Given the description of an element on the screen output the (x, y) to click on. 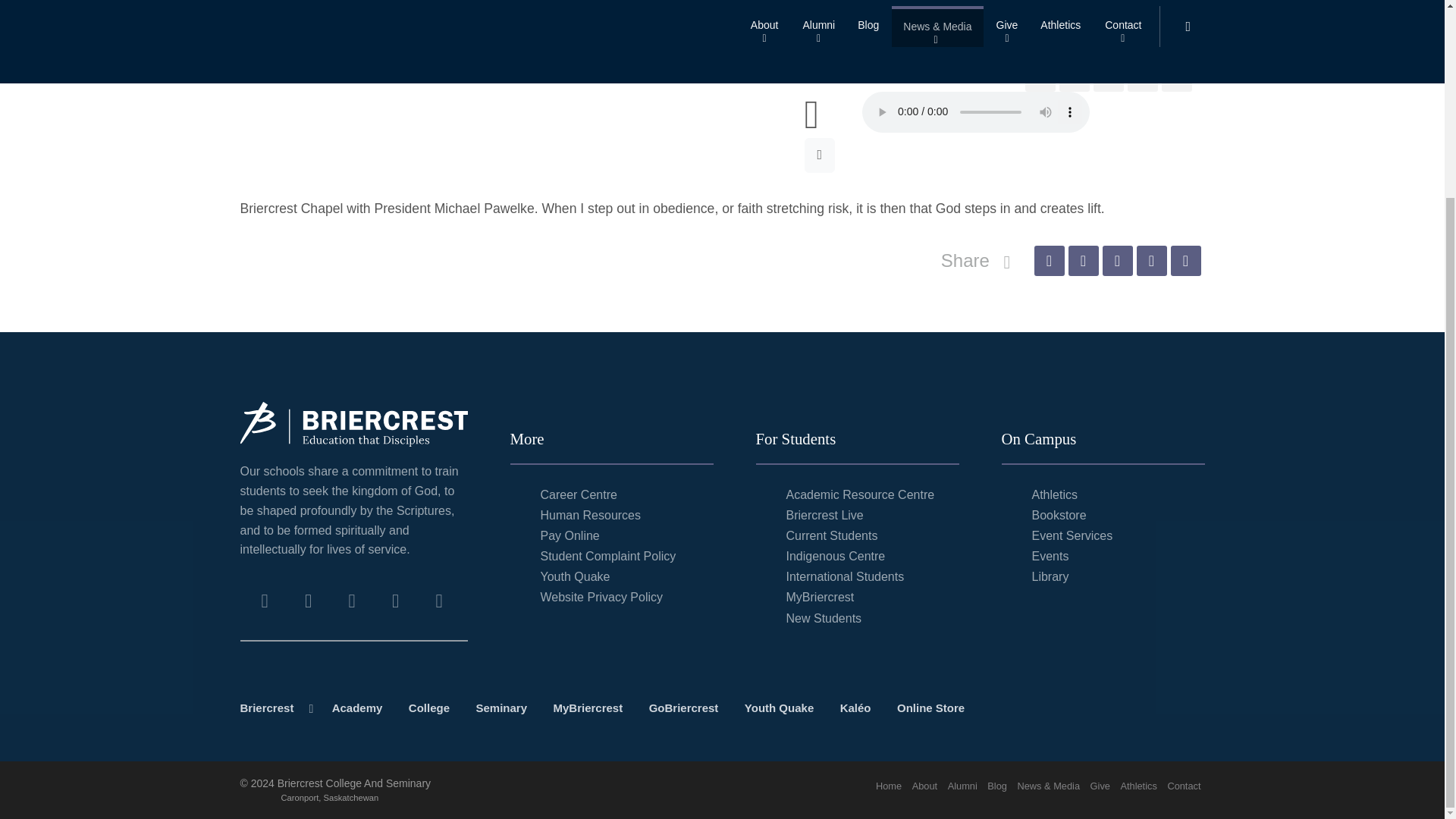
share this to my Twitter account (1073, 76)
share this to my Facebook page (1040, 76)
share this to my Facebook page (1048, 260)
share this to Pinterest (1108, 76)
email a link to this (1176, 76)
share this to my Twitter account (1082, 260)
download this podcast (820, 155)
share this to LinkedIn (1141, 76)
